Given the description of an element on the screen output the (x, y) to click on. 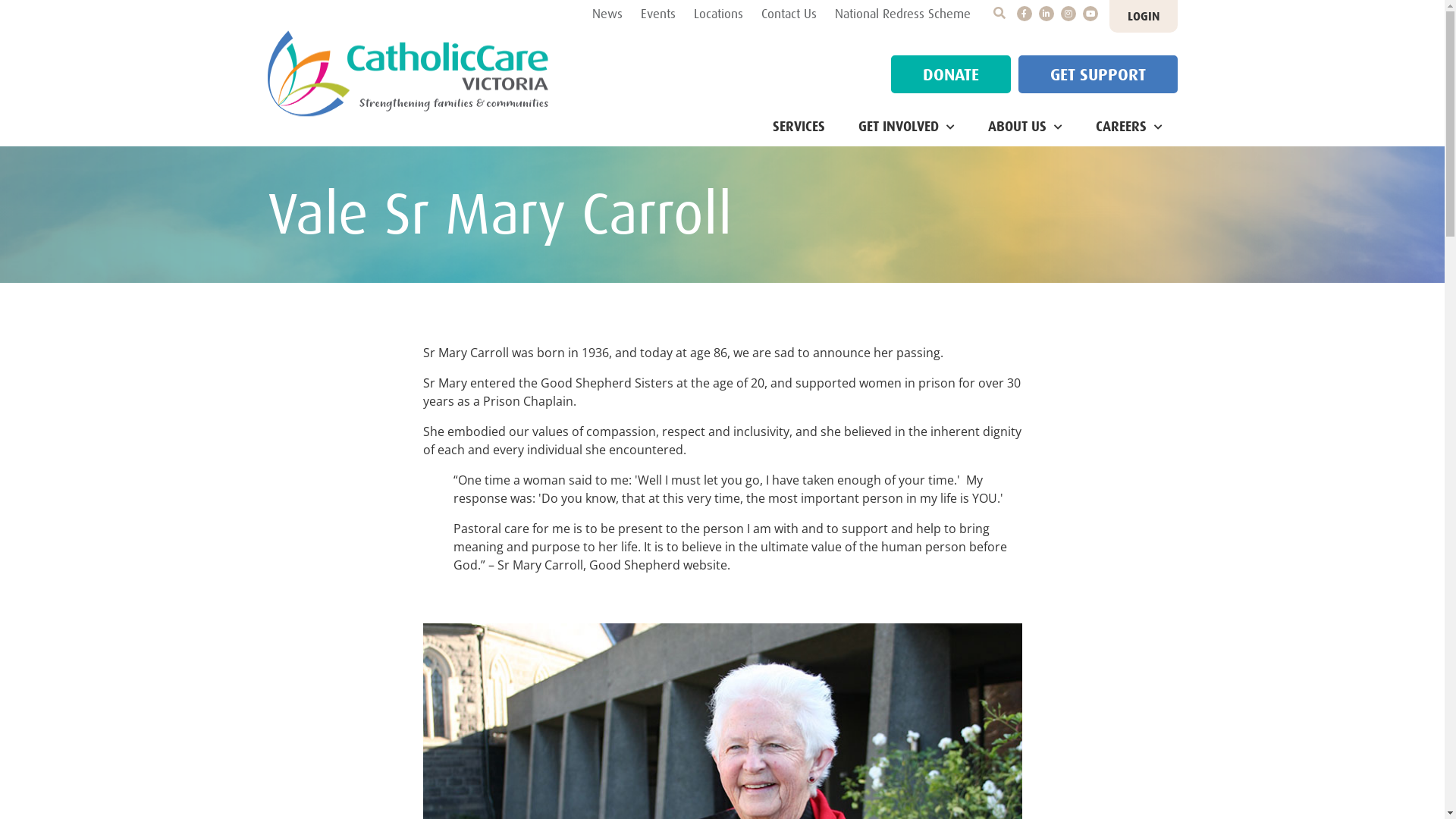
GET INVOLVED Element type: text (906, 127)
GET SUPPORT Element type: text (1096, 74)
LOGIN Element type: text (1142, 16)
Events Element type: text (657, 14)
DONATE Element type: text (950, 74)
National Redress Scheme Element type: text (901, 14)
ABOUT US Element type: text (1024, 127)
CAREERS Element type: text (1127, 127)
Locations Element type: text (717, 14)
SERVICES Element type: text (797, 127)
News Element type: text (606, 14)
Contact Us Element type: text (788, 14)
